Given the description of an element on the screen output the (x, y) to click on. 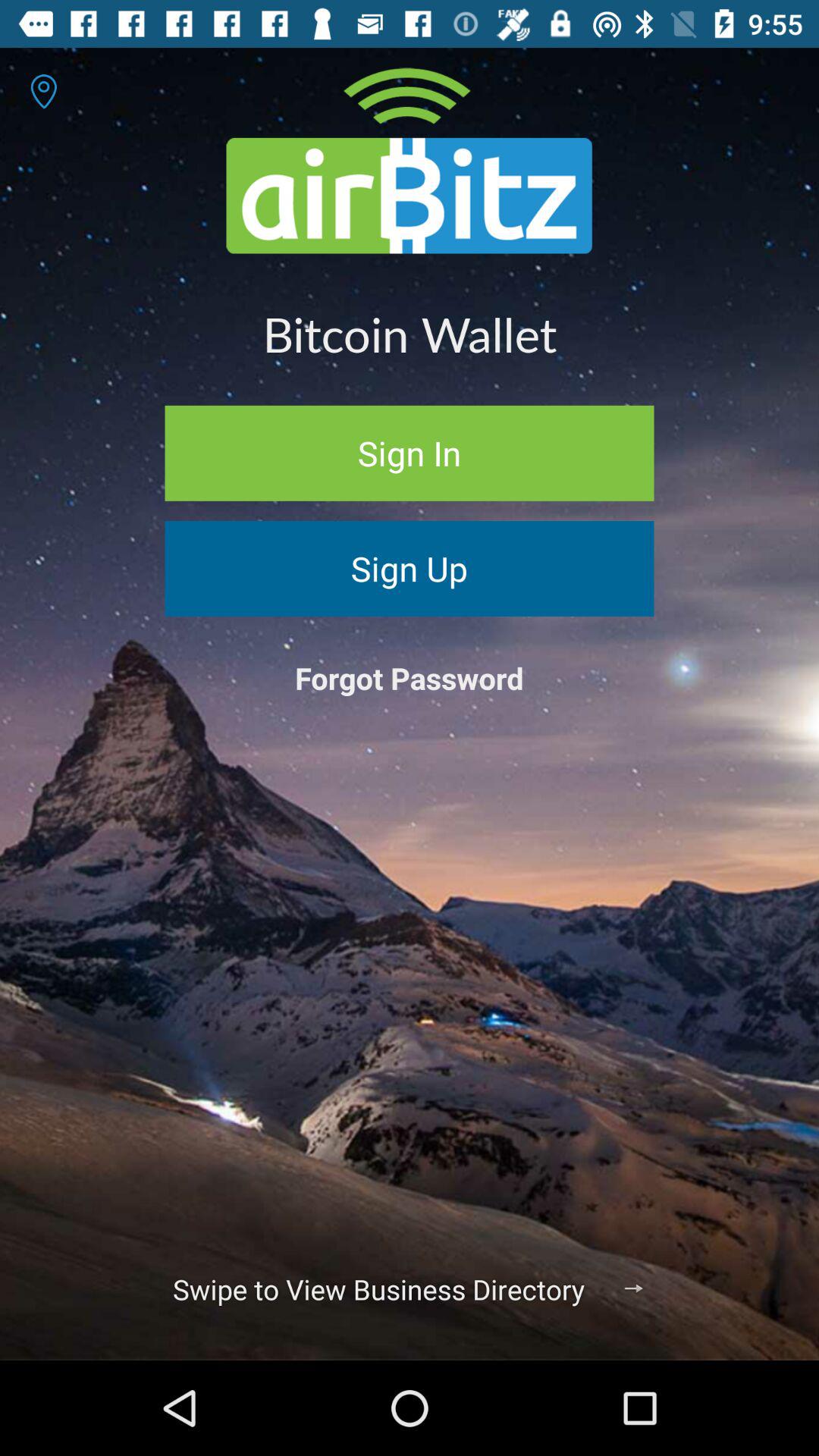
launch the item at the top left corner (43, 91)
